Given the description of an element on the screen output the (x, y) to click on. 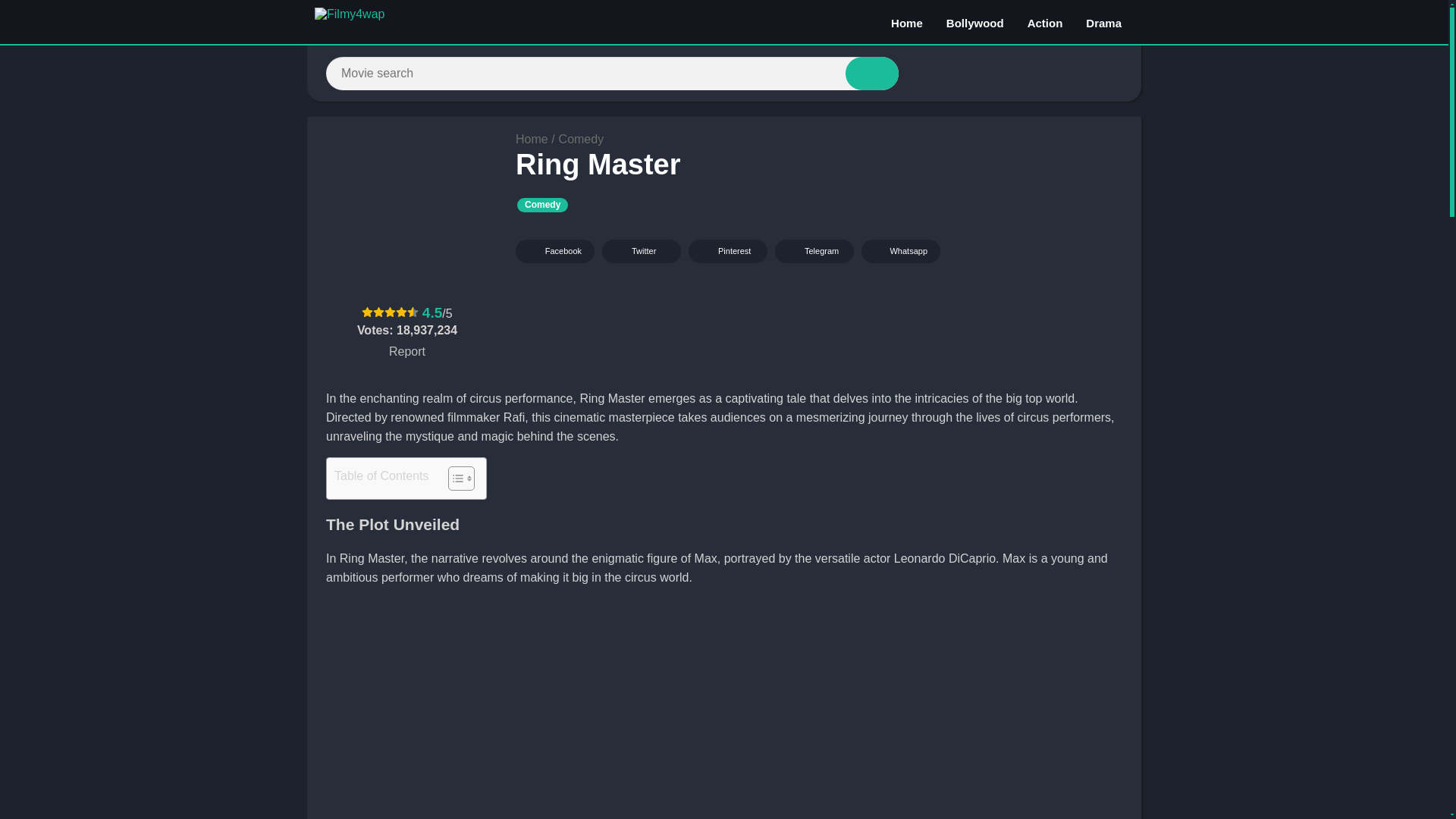
Comedy (581, 138)
Comedy (541, 205)
Drama (1103, 22)
Action (1045, 22)
Filmy4wap (531, 138)
Bollywood (974, 22)
Facebook (554, 250)
Home (906, 22)
Twitter (641, 250)
Telegram (813, 250)
